Given the description of an element on the screen output the (x, y) to click on. 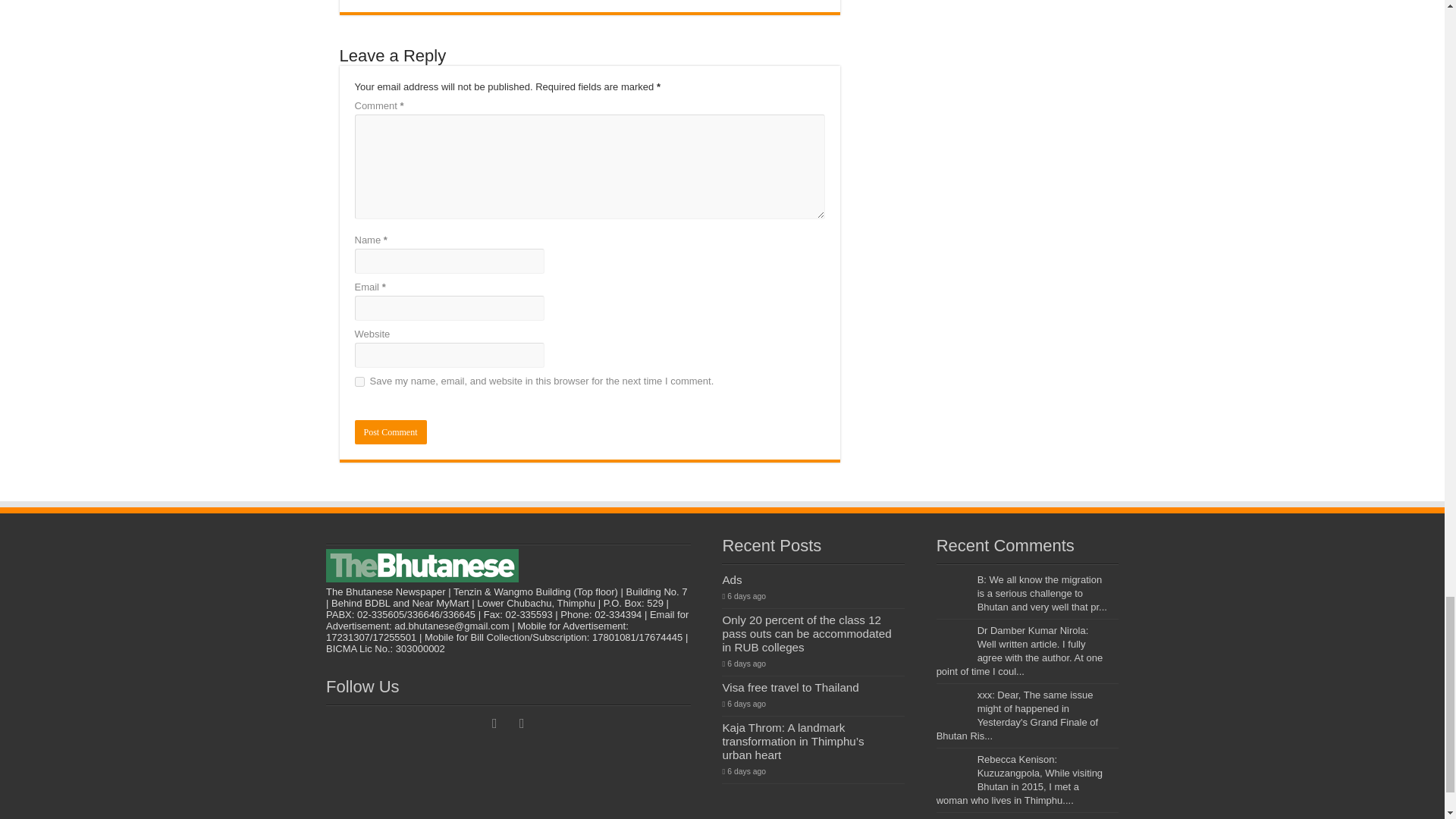
yes (360, 381)
Post Comment (390, 432)
